Given the description of an element on the screen output the (x, y) to click on. 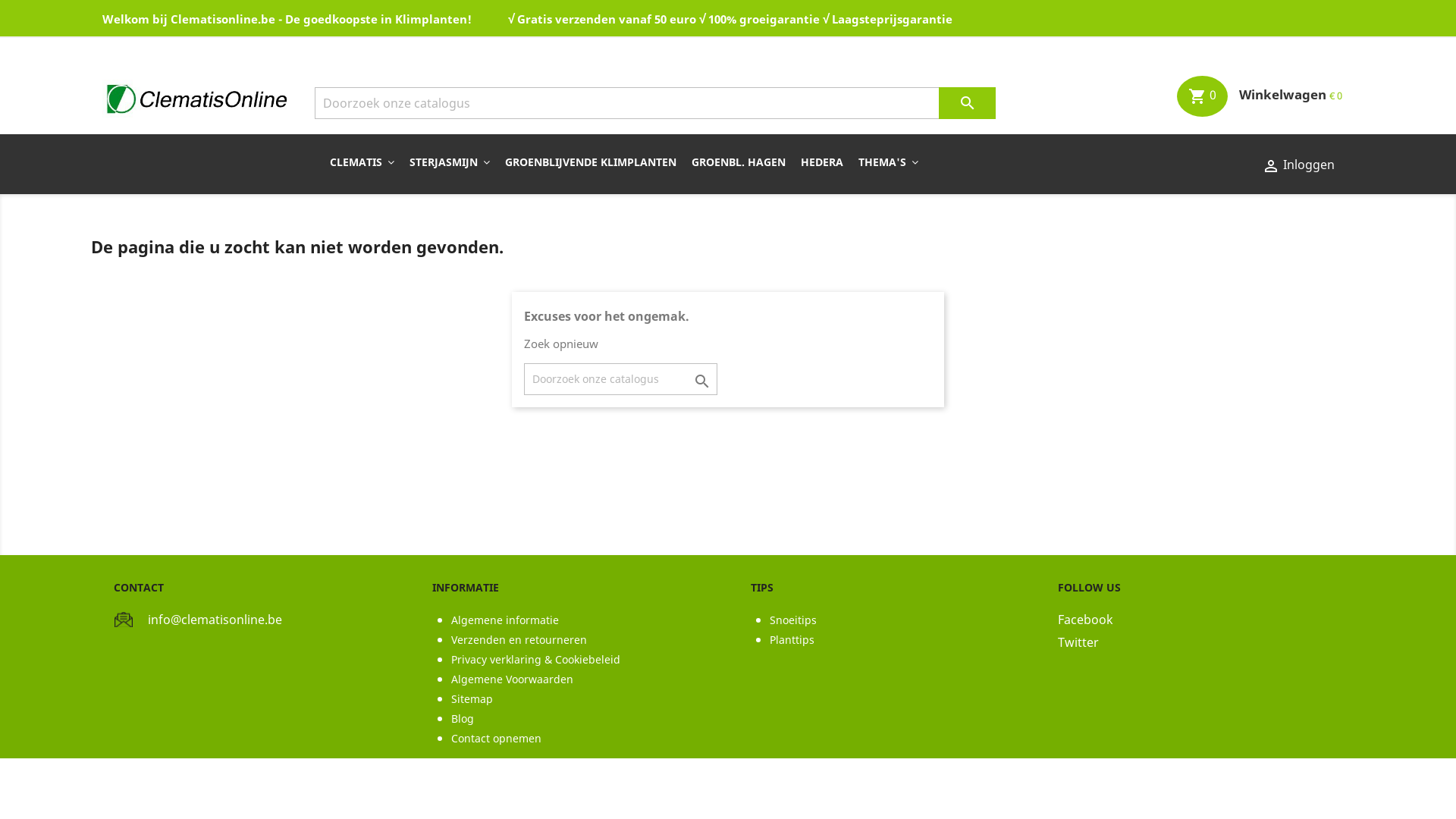
Contact opnemen Element type: text (496, 738)
CLEMATIS Element type: text (361, 161)
THEMA'S Element type: text (887, 161)
GROENBLIJVENDE KLIMPLANTEN Element type: text (590, 161)
Verzenden en retourneren Element type: text (518, 639)
info@clematisonline.be Element type: text (214, 619)
Sitemap Element type: text (471, 698)
Facebook Element type: text (1205, 622)
Algemene informatie Element type: text (504, 619)
Twitter Element type: text (1205, 645)
Privacy verklaring & Cookiebeleid Element type: text (535, 659)
Blog Element type: text (462, 718)
HEDERA Element type: text (821, 161)
STERJASMIJN Element type: text (449, 161)
Planttips Element type: text (791, 639)
Snoeitips Element type: text (792, 619)
Algemene Voorwaarden Element type: text (512, 678)
GROENBL. HAGEN Element type: text (738, 161)
